Given the description of an element on the screen output the (x, y) to click on. 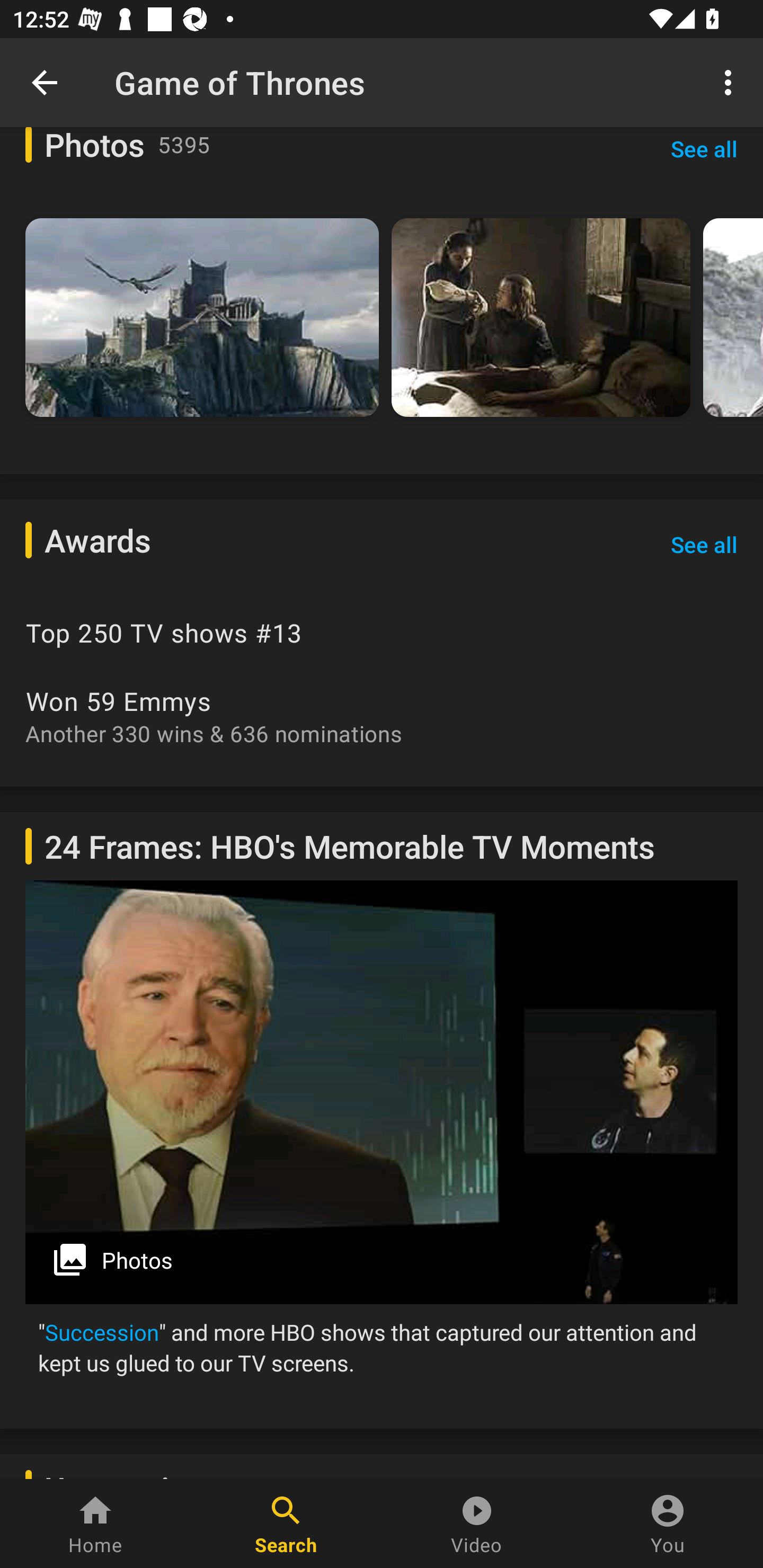
More options (731, 81)
See all See all Photos (703, 156)
See all See all Awards (703, 544)
Top 250 TV shows #13 (381, 632)
Won 59 Emmys Another 330 wins & 636 nominations (381, 715)
Home (95, 1523)
Video (476, 1523)
You (667, 1523)
